Given the description of an element on the screen output the (x, y) to click on. 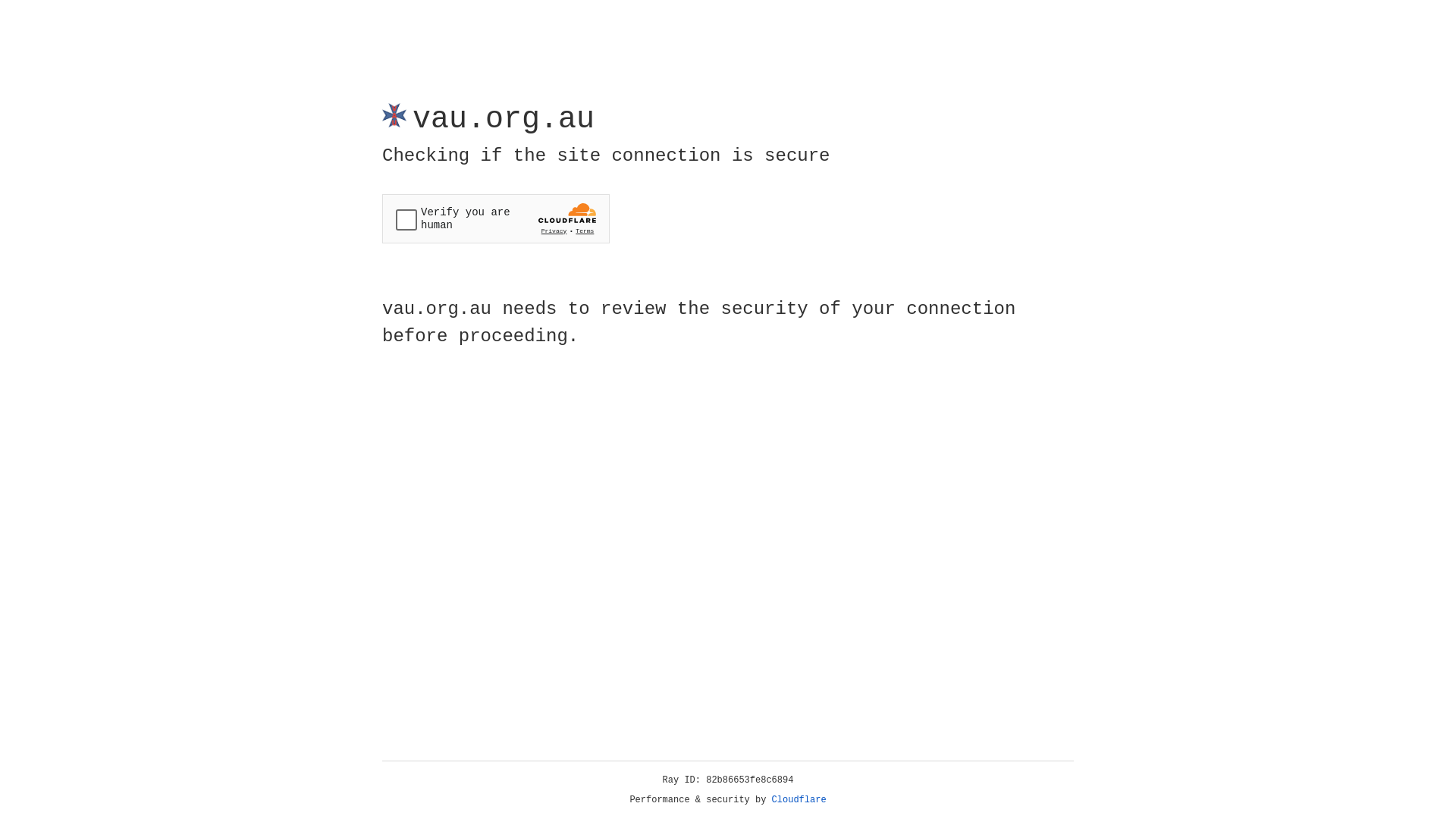
Widget containing a Cloudflare security challenge Element type: hover (495, 218)
Cloudflare Element type: text (798, 799)
